Given the description of an element on the screen output the (x, y) to click on. 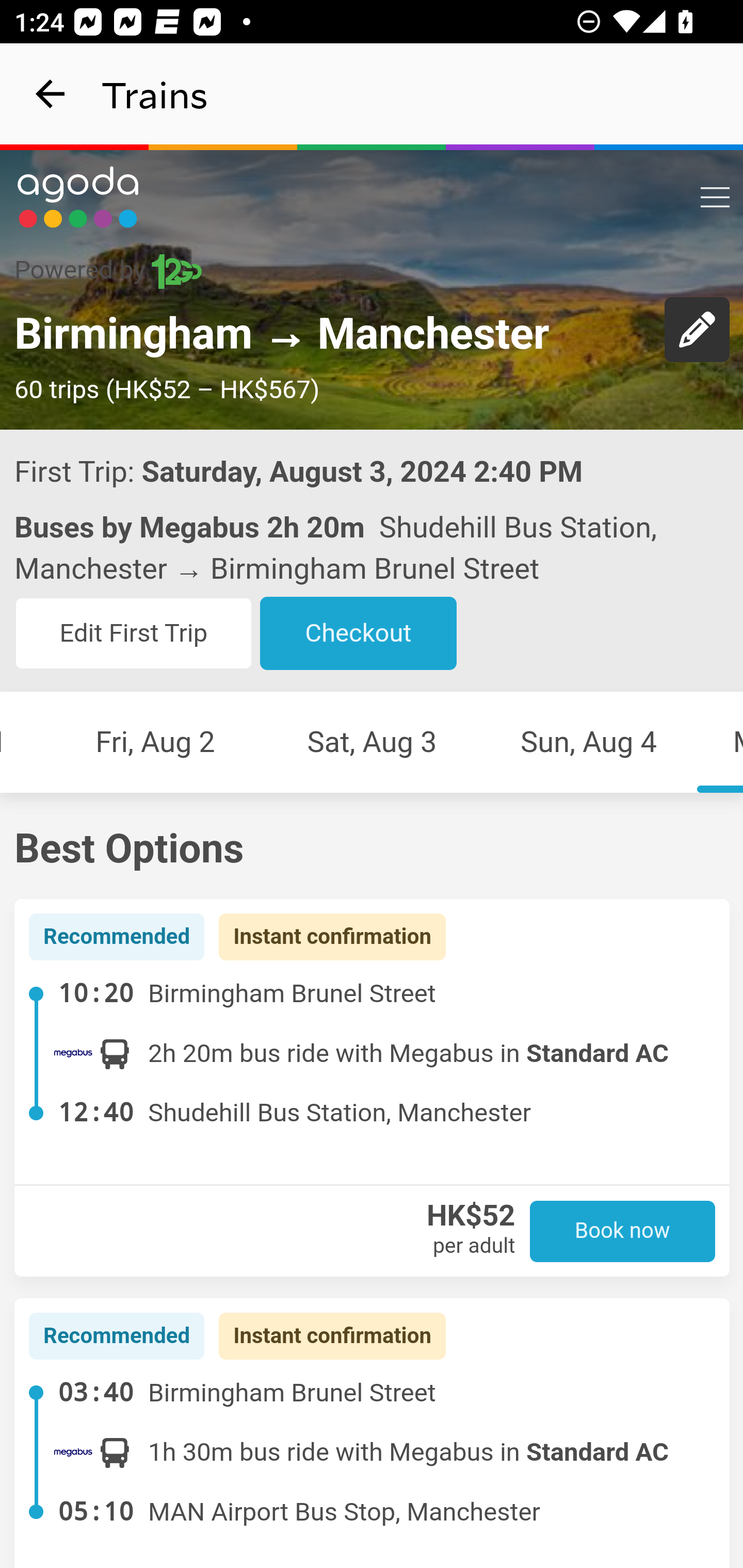
navigation_button (50, 93)
Link to main page 5418 (78, 197)
Fri, Aug 2 (154, 742)
Sat, Aug 3 (371, 742)
Sun, Aug 4 (589, 742)
Book now (622, 1229)
